Given the description of an element on the screen output the (x, y) to click on. 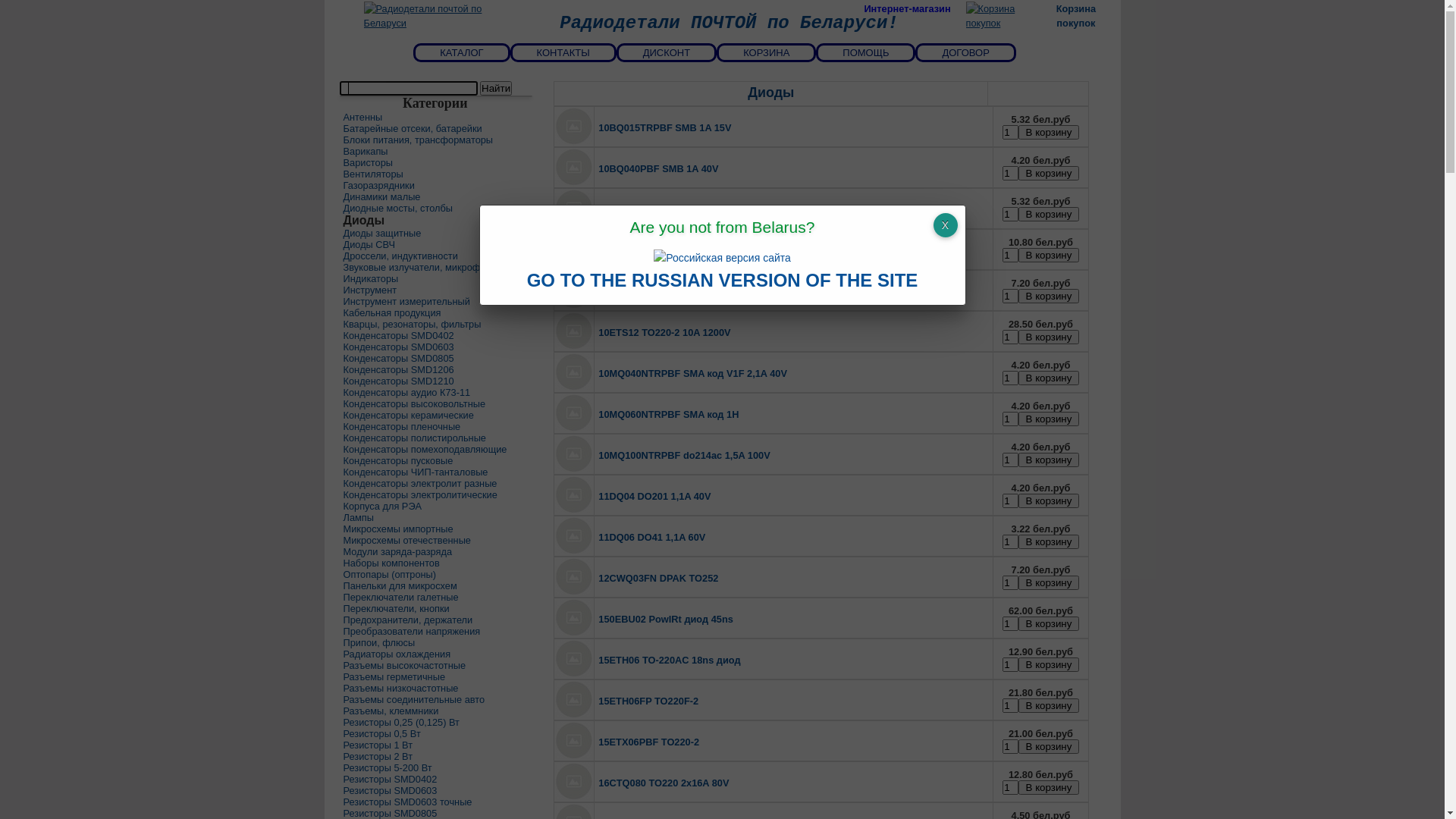
10MQ100NTRPBF do214ac 1,5A 100V Element type: text (683, 455)
10BQ040PBF SMB 1A 40V Element type: text (658, 168)
10DF6 do41 (MUR160R) 1A 600V 100ns Element type: text (687, 291)
12CWQ03FN DPAK TO252 Element type: text (658, 577)
11DQ04 DO201 1,1A 40V Element type: text (654, 496)
15ETX06PBF TO220-2 Element type: text (648, 741)
GO TO THE RUSSIAN VERSION OF THE SITE Element type: text (722, 282)
11DQ06 DO41 1,1A 60V Element type: text (651, 536)
10BQ060TRPBF SMB 1A 60V Element type: text (664, 209)
Close Element type: hover (944, 225)
10BQ015TRPBF SMB 1A 15V Element type: text (664, 127)
15ETH06FP TO220F-2 Element type: text (648, 700)
16CTQ080 TO220 2x16A 80V Element type: text (663, 782)
10ETS12 TO220-2 10A 1200V Element type: text (664, 332)
